Given the description of an element on the screen output the (x, y) to click on. 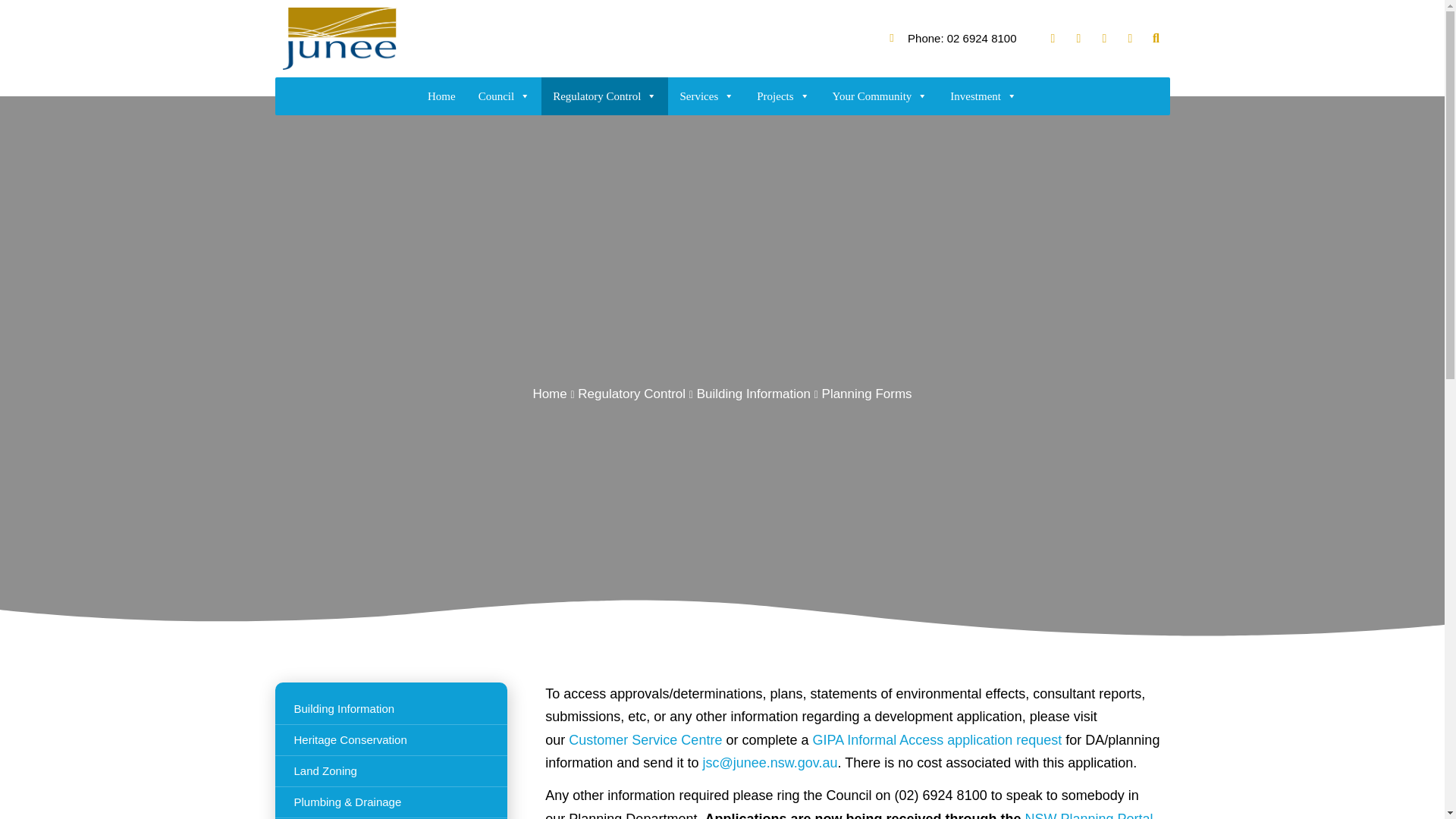
Home (441, 95)
Regulatory Control (604, 95)
logo (339, 38)
Council (504, 95)
Phone: 02 6924 8100 (952, 38)
